Given the description of an element on the screen output the (x, y) to click on. 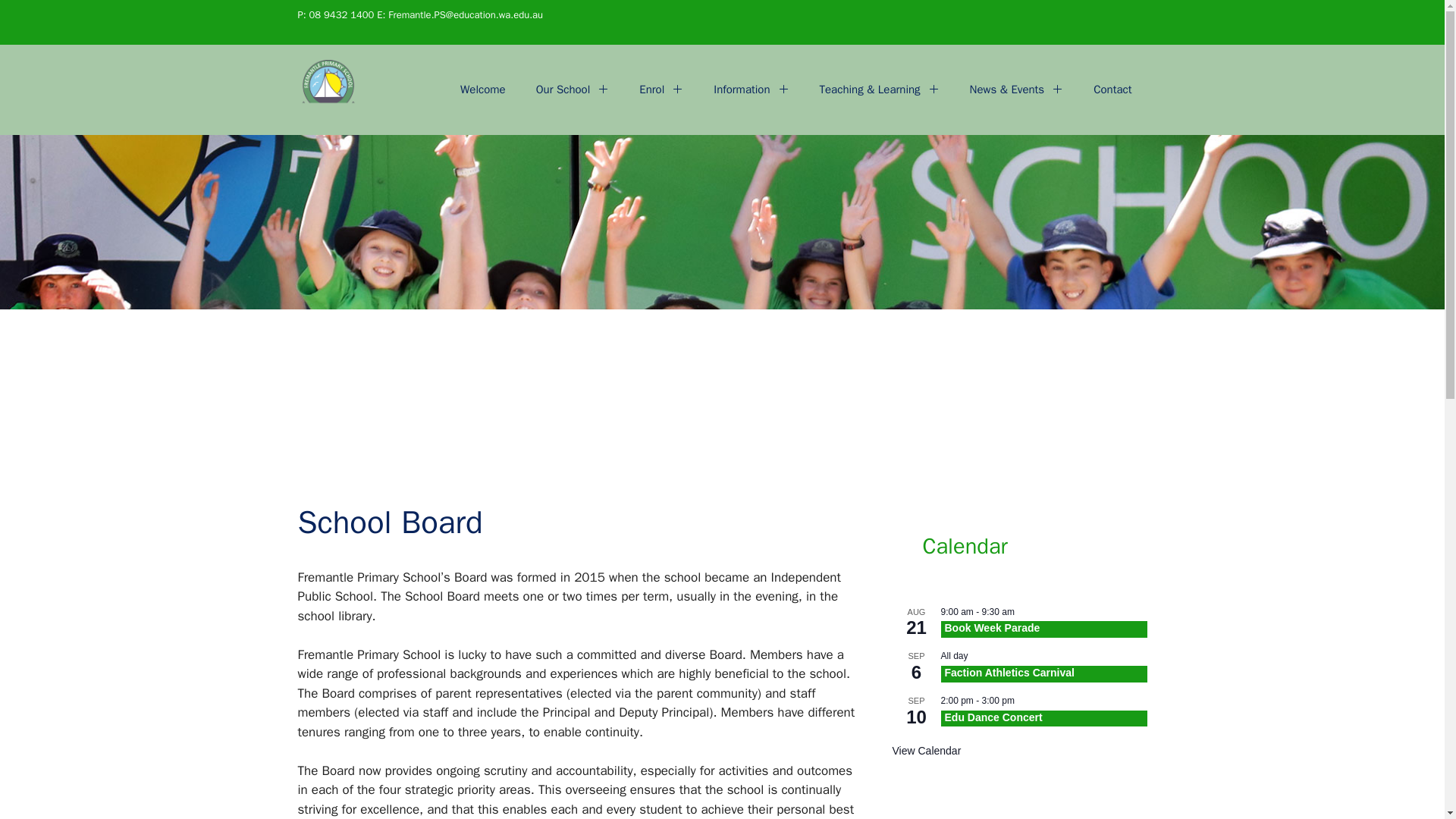
Welcome (483, 89)
Our School (572, 89)
Contact (1112, 89)
Enrol (661, 89)
Information (750, 89)
